Given the description of an element on the screen output the (x, y) to click on. 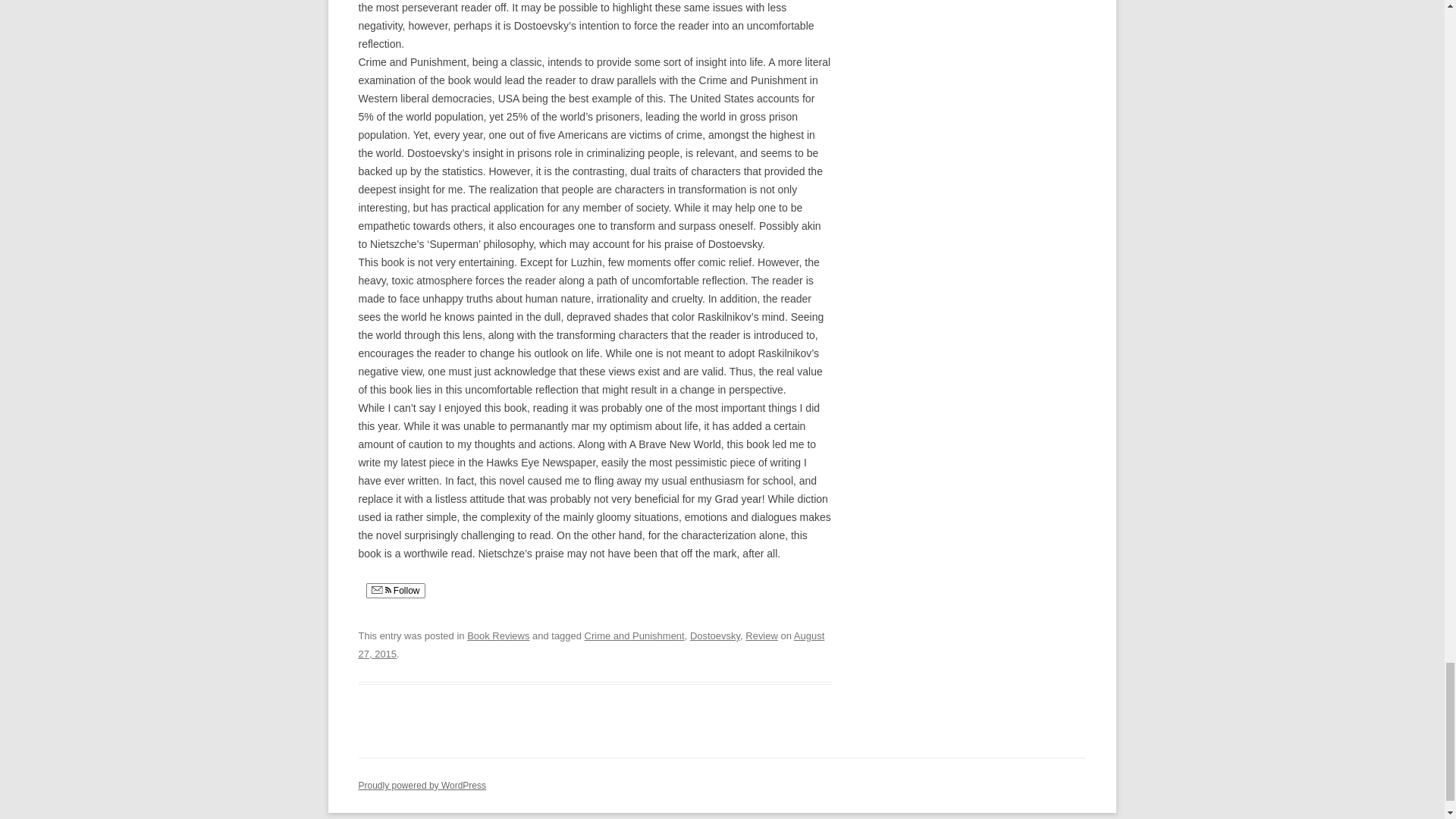
Email, RSS (381, 591)
Semantic Personal Publishing Platform (422, 785)
Crime and Punishment (634, 635)
Dostoevsky (714, 635)
Follow (395, 590)
Review (761, 635)
Book Reviews (498, 635)
August 27, 2015 (591, 644)
13:52 (591, 644)
